Given the description of an element on the screen output the (x, y) to click on. 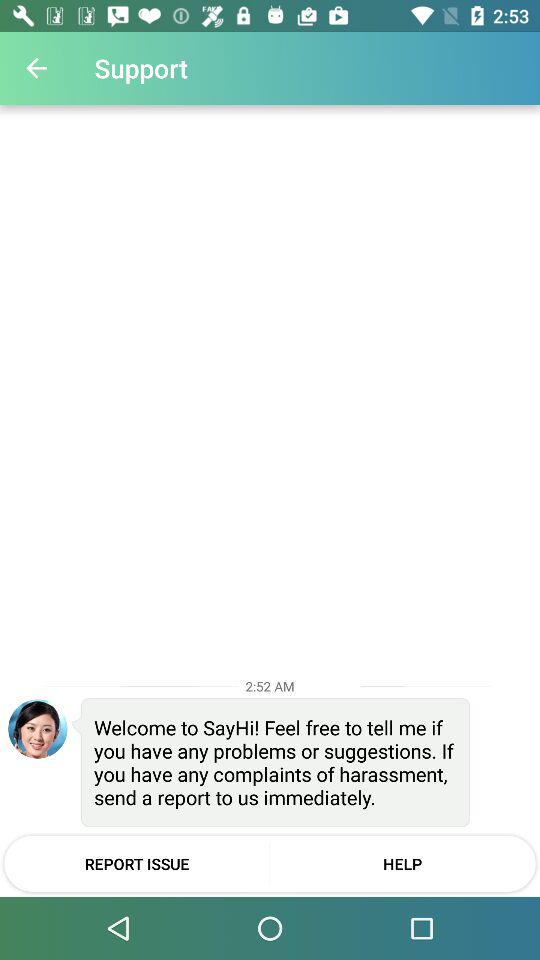
launch the icon above the 2:52 am (36, 68)
